Given the description of an element on the screen output the (x, y) to click on. 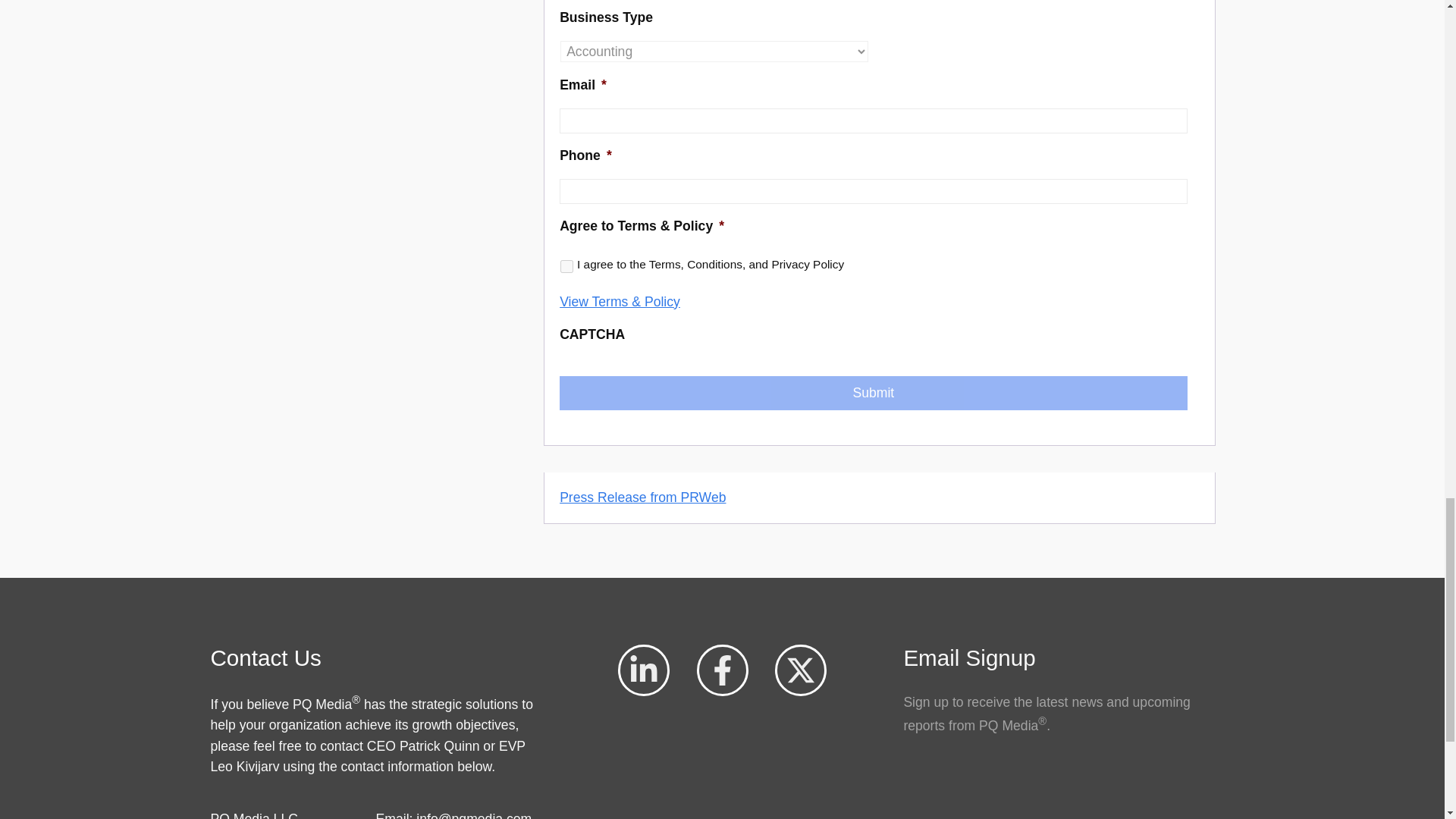
Submit (872, 392)
Press Release from PRWeb (642, 497)
I agree to the Terms, Conditions, and Privacy Policy (566, 266)
Submit (872, 392)
